Given the description of an element on the screen output the (x, y) to click on. 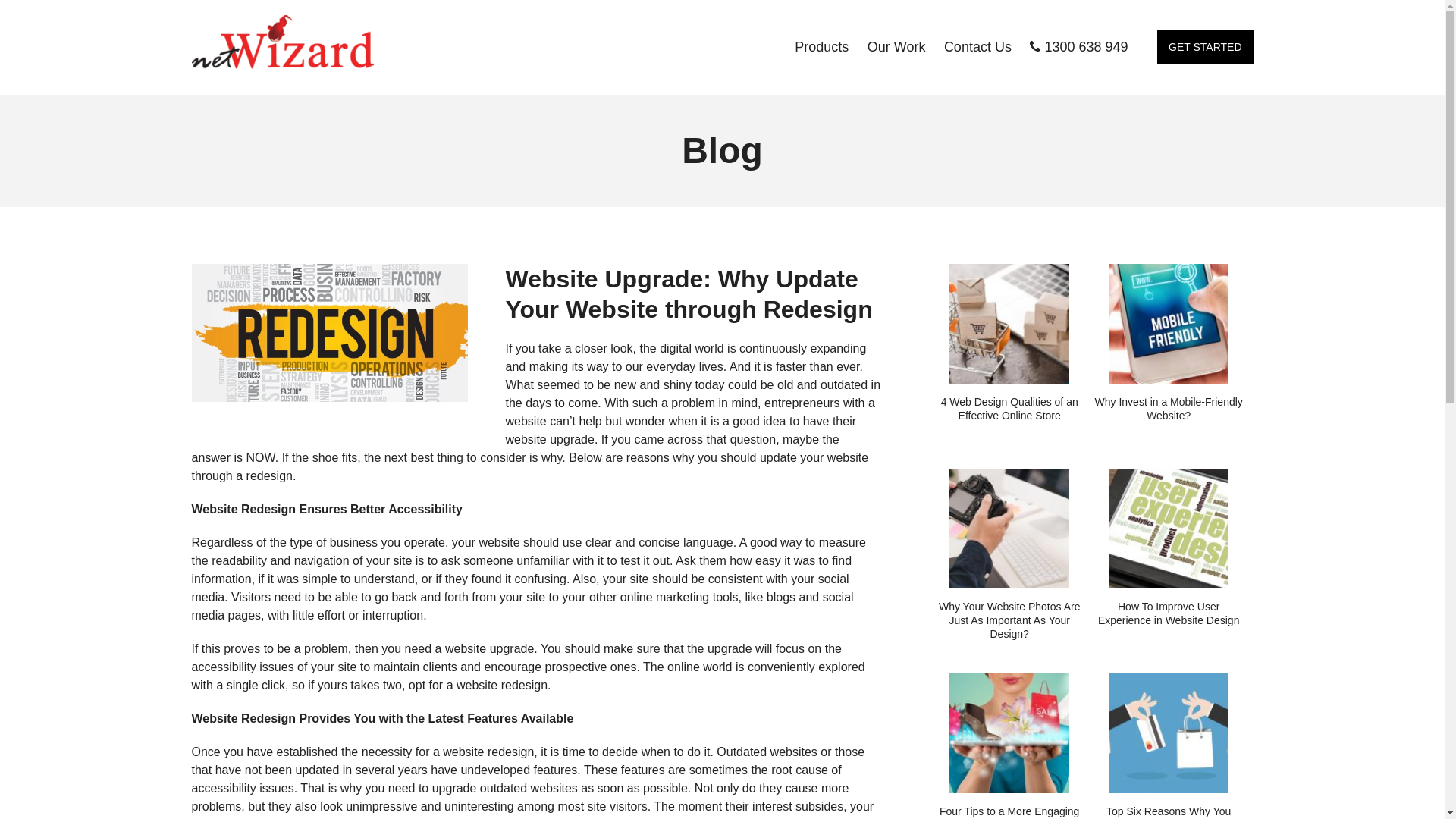
4 Web Design Qualities of an Effective Online Store Element type: text (1008, 342)
Contact Us Element type: text (977, 46)
How To Improve User Experience in Website Design Element type: text (1167, 547)
1300 638 949 Element type: text (1078, 46)
GET STARTED Element type: text (1204, 46)
Our Work Element type: text (896, 46)
Products Element type: text (821, 46)
Why Invest in a Mobile-Friendly Website? Element type: text (1167, 342)
